Given the description of an element on the screen output the (x, y) to click on. 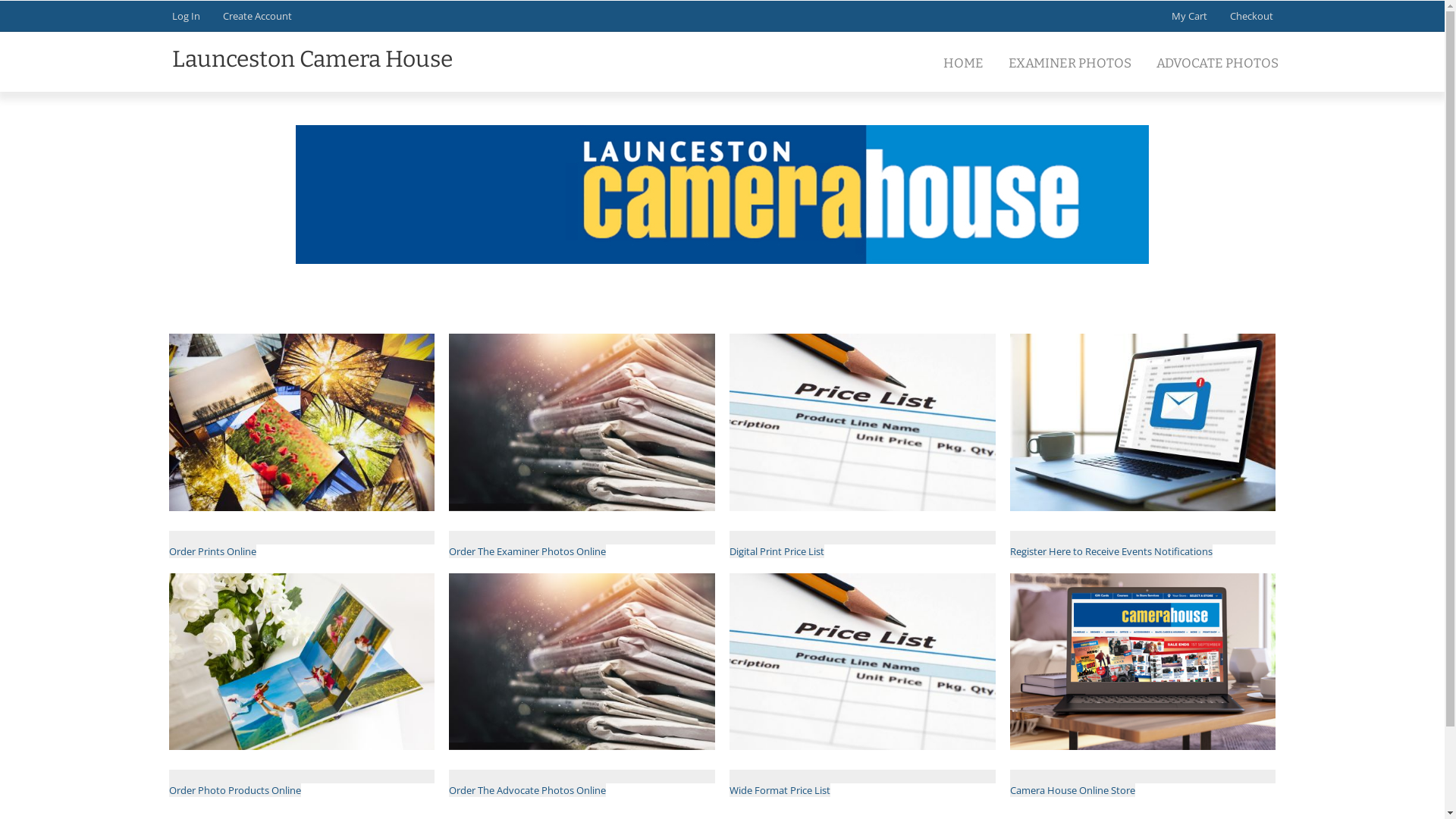
EXAMINER PHOTOS Element type: text (1070, 62)
HOME Element type: text (963, 62)
Order The Examiner Photos Online Element type: text (581, 544)
Digital Print Price List Element type: text (861, 544)
ADVOCATE PHOTOS Element type: text (1216, 62)
Wide Format Price List Element type: text (861, 783)
Register Here to Receive Events Notifications Element type: text (1142, 544)
Order Photo Products Online Element type: text (300, 783)
Camera House Online Store Element type: text (1142, 783)
Checkout Element type: text (1251, 15)
Create Account Element type: text (256, 15)
Order The Advocate Photos Online Element type: text (581, 783)
Order Prints Online Element type: text (300, 544)
My Cart Element type: text (1189, 15)
Log In Element type: text (185, 15)
